Given the description of an element on the screen output the (x, y) to click on. 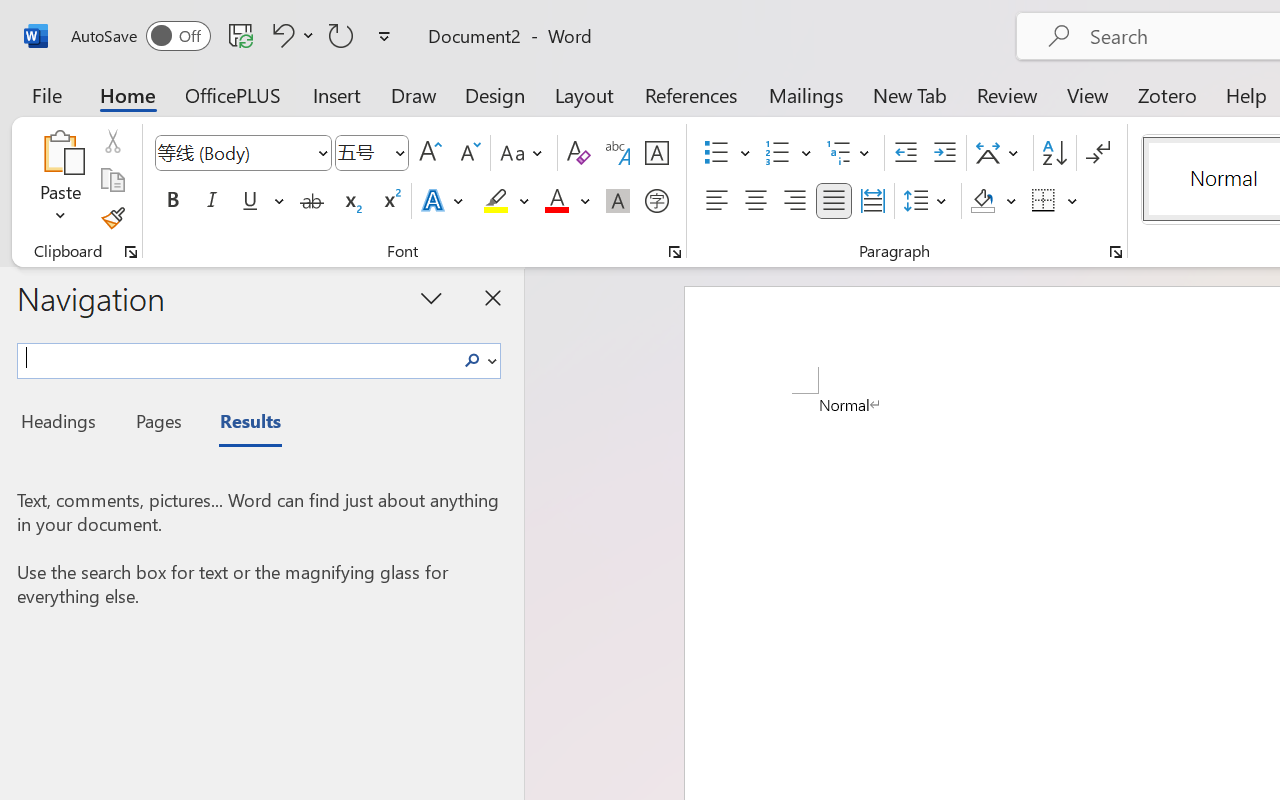
View (1087, 94)
Quick Access Toolbar (233, 36)
Decrease Indent (906, 153)
Results (240, 424)
Pages (156, 424)
Italic (212, 201)
Font (234, 152)
Show/Hide Editing Marks (1098, 153)
Center (756, 201)
Text Highlight Color Yellow (495, 201)
Text Effects and Typography (444, 201)
Numbering (788, 153)
Strikethrough (312, 201)
Design (495, 94)
Character Border (656, 153)
